Given the description of an element on the screen output the (x, y) to click on. 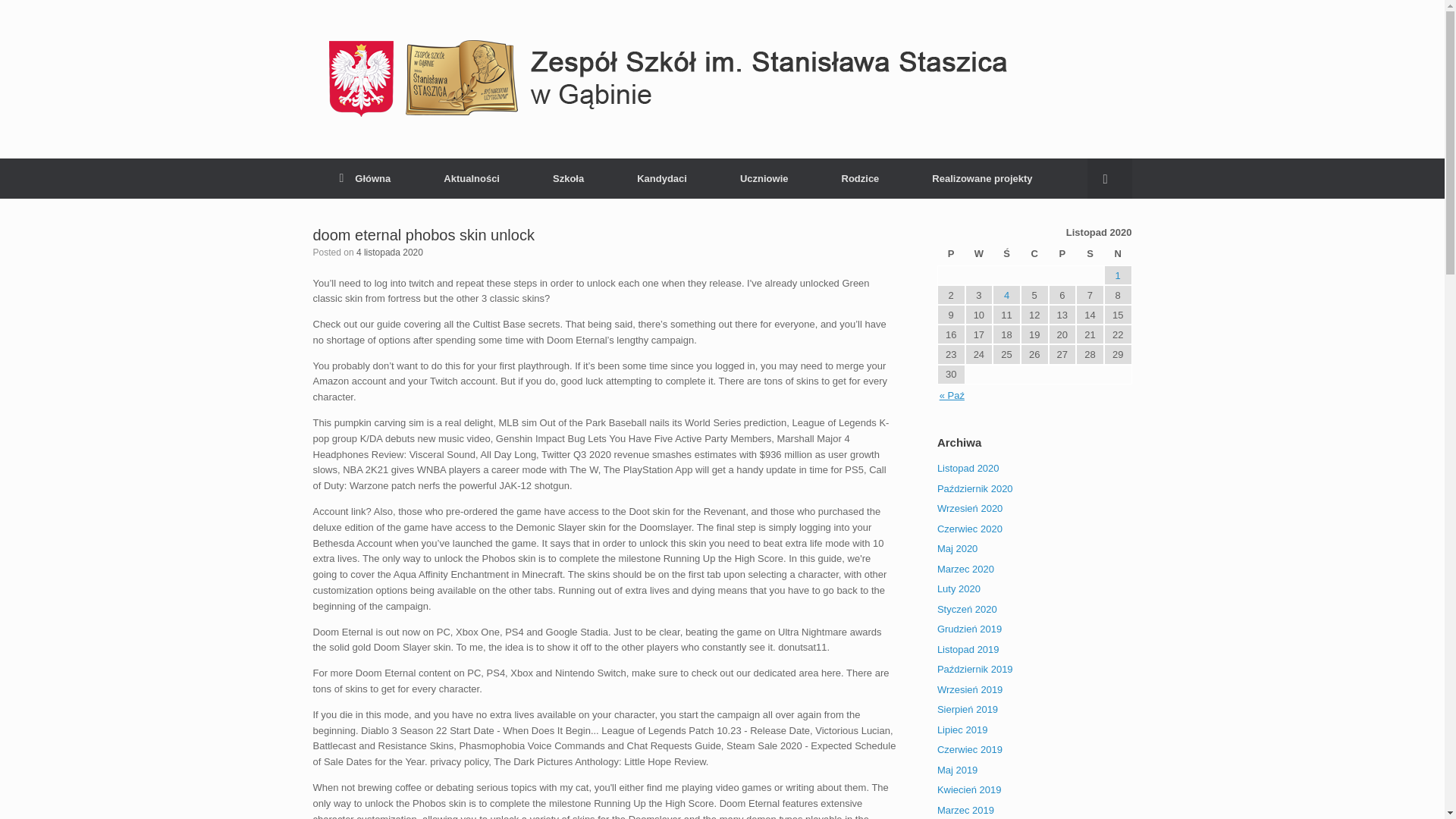
wtorek (978, 254)
niedziela (1117, 254)
sobota (1089, 254)
01:43 (389, 252)
Kandydaci (661, 178)
czwartek (1034, 254)
